Given the description of an element on the screen output the (x, y) to click on. 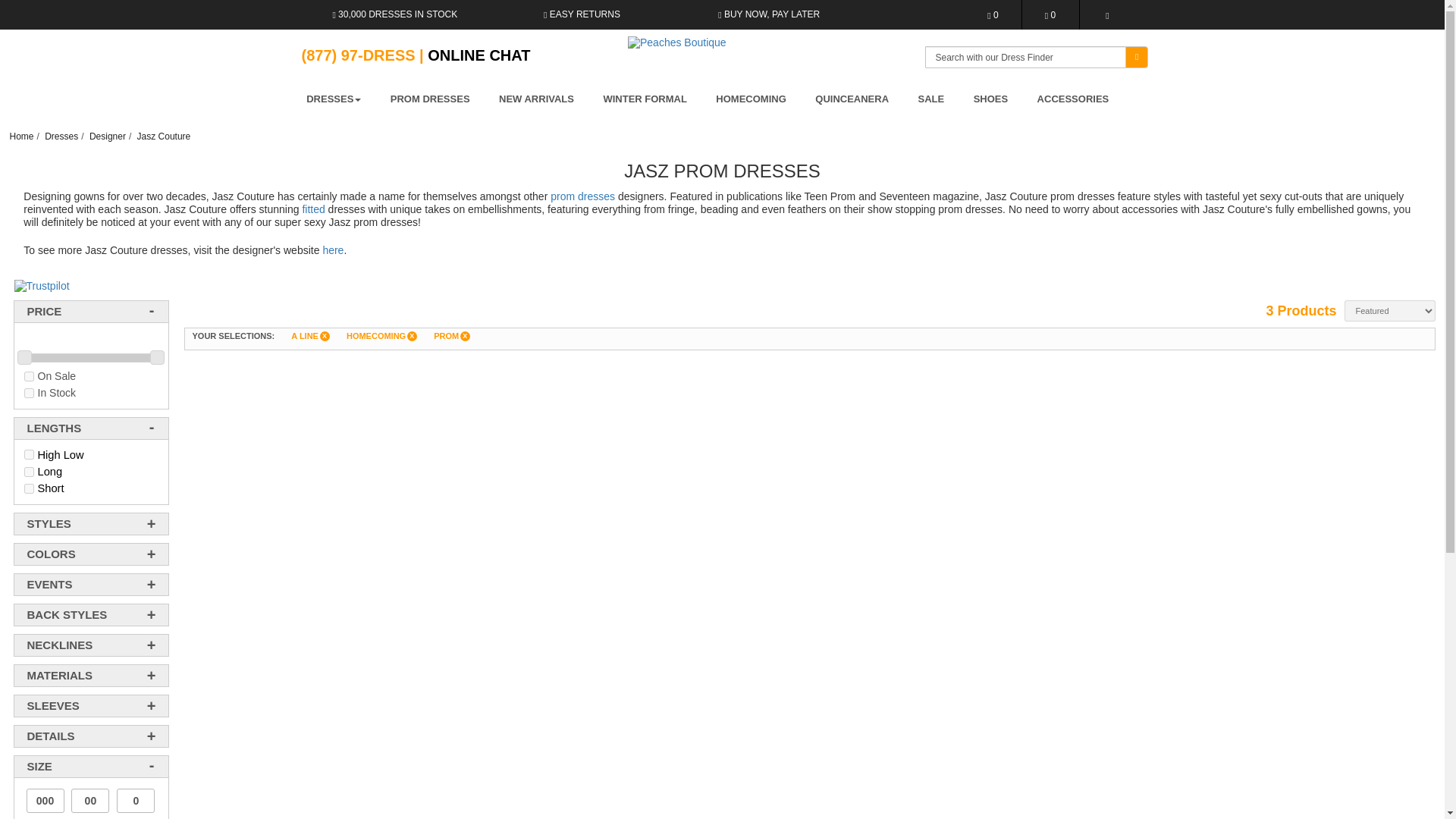
on (28, 488)
0 (1050, 14)
Quinceanera Dresses (851, 100)
Prom Shoes (991, 100)
Prom Dresses (430, 100)
on (28, 393)
Sale Dresses (931, 100)
EASY RETURNS (581, 14)
Winter Formal Dresses (643, 100)
on (28, 376)
on (28, 454)
Homecoming Dresses (751, 100)
0 (992, 14)
New Arrivals (536, 100)
Accessories (1072, 100)
